Given the description of an element on the screen output the (x, y) to click on. 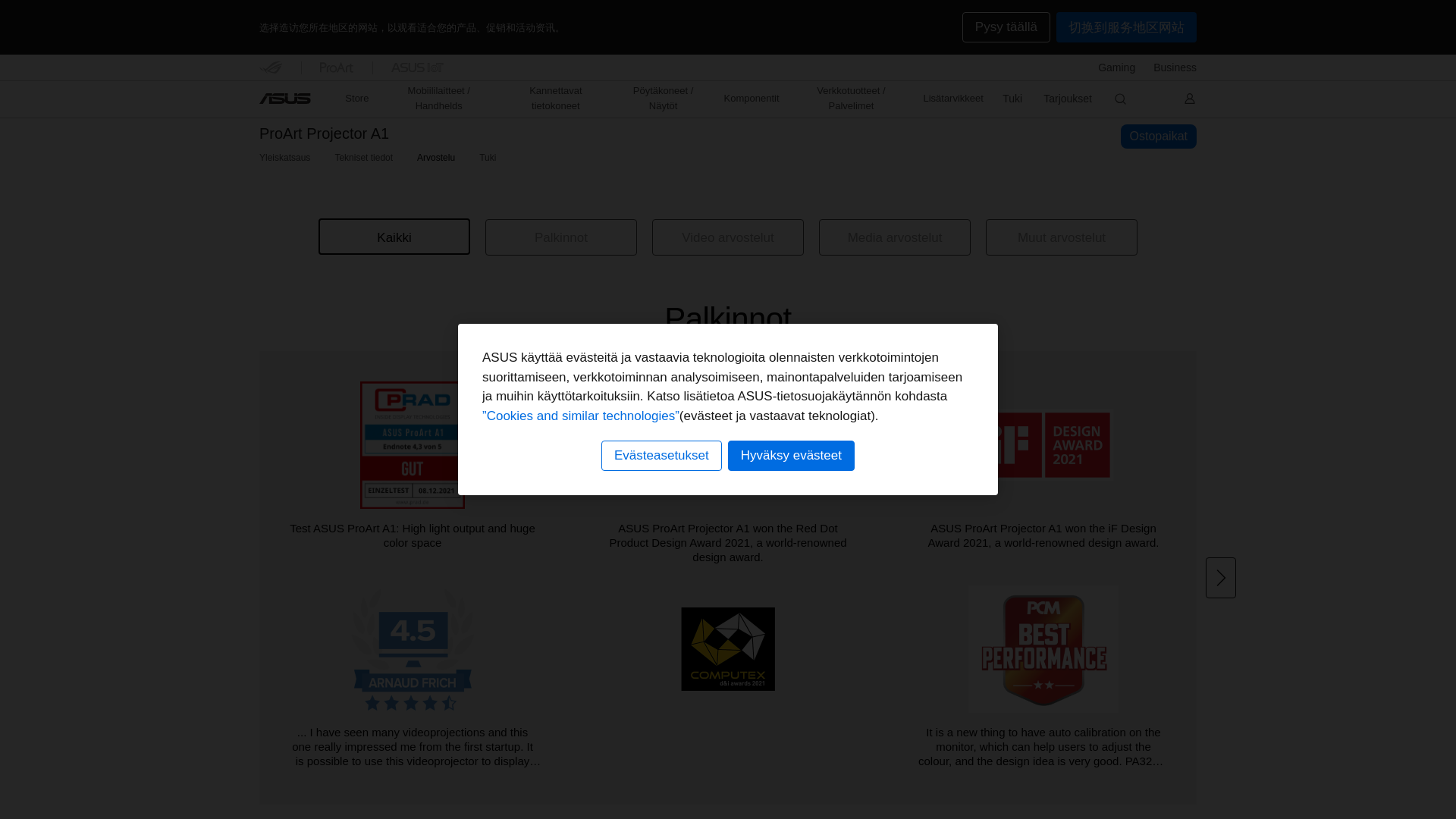
Yleiskatsaus (284, 157)
Business (1174, 67)
Tuki (487, 157)
Tekniset tiedot (363, 157)
Ostopaikat (1158, 136)
Test ASUS ProArt A1: High light output and huge color space (417, 475)
Arvostelu (435, 157)
Store (356, 98)
